Given the description of an element on the screen output the (x, y) to click on. 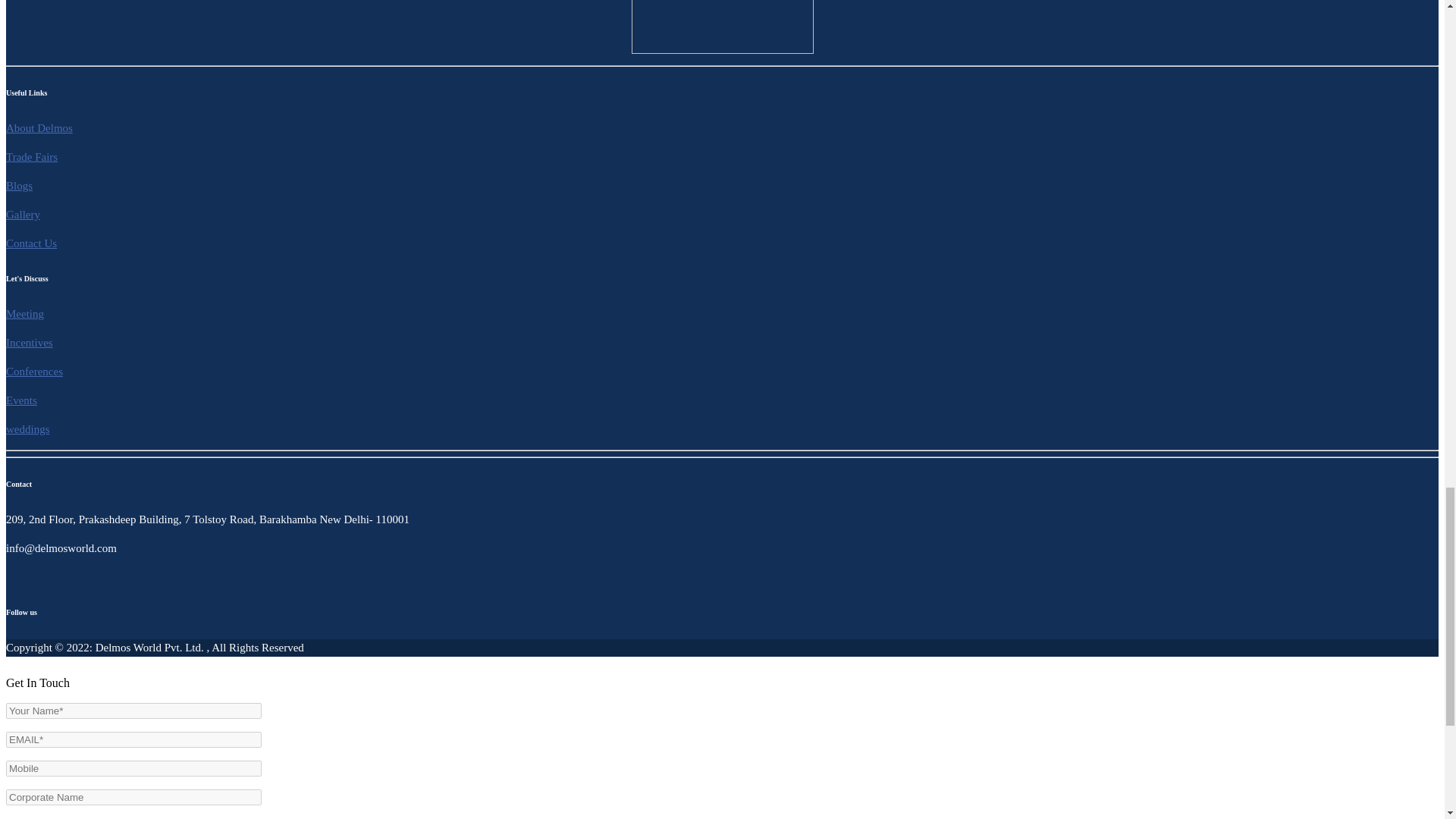
About Delmos (38, 128)
weddings (27, 428)
Meeting (24, 313)
Events (21, 399)
Blogs (18, 185)
Contact Us (30, 243)
Incentives (28, 342)
Conferences (33, 371)
Trade Fairs (31, 156)
Gallery (22, 214)
